Given the description of an element on the screen output the (x, y) to click on. 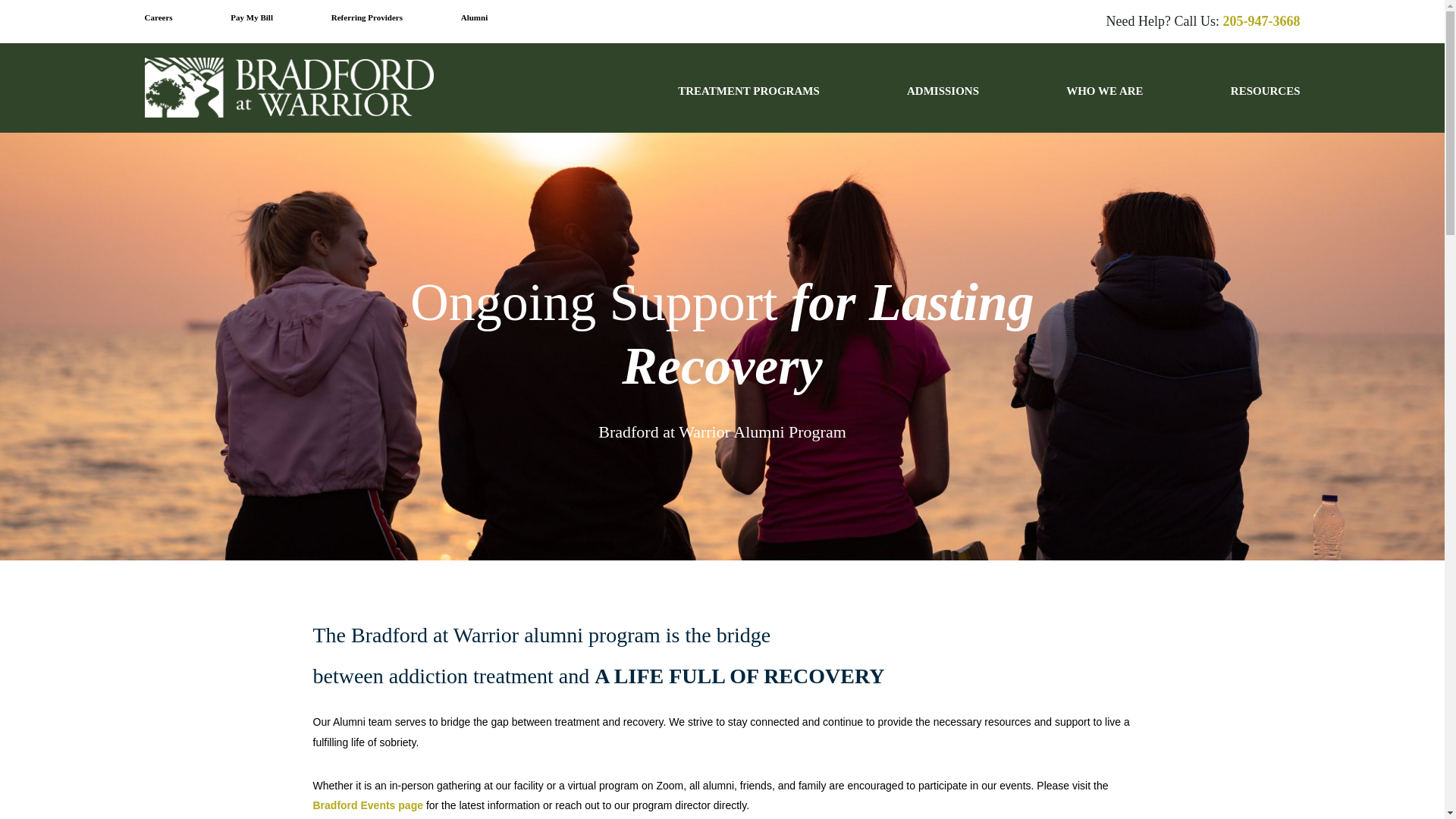
ADMISSIONS (942, 104)
Alumni (474, 17)
205-947-3668 (1261, 20)
Pay My Bill (251, 17)
Careers (157, 17)
Referring Providers (367, 17)
RESOURCES (1265, 104)
TREATMENT PROGRAMS (748, 104)
WHO WE ARE (1103, 104)
